Given the description of an element on the screen output the (x, y) to click on. 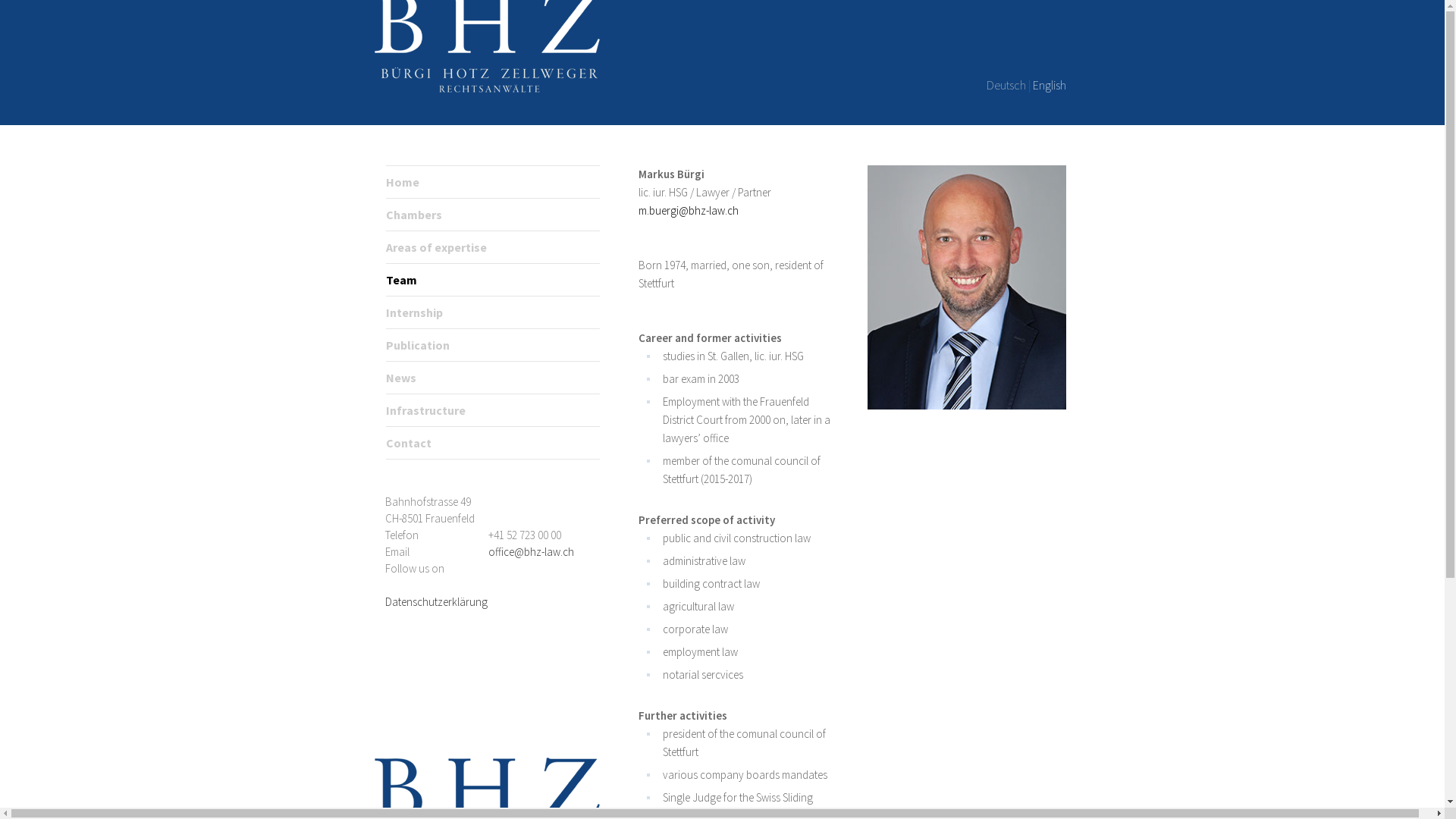
Chambers Element type: text (413, 214)
News Element type: text (400, 377)
Deutsch Element type: text (1005, 84)
Areas of expertise Element type: text (435, 246)
Publication Element type: text (416, 344)
English Element type: text (1049, 84)
m.buergi@bhz-law.ch Element type: text (688, 210)
Internship Element type: text (413, 312)
Home Element type: text (401, 181)
Infrastructure Element type: text (424, 409)
Contact Element type: text (407, 442)
office@bhz-law.ch Element type: text (531, 551)
